Given the description of an element on the screen output the (x, y) to click on. 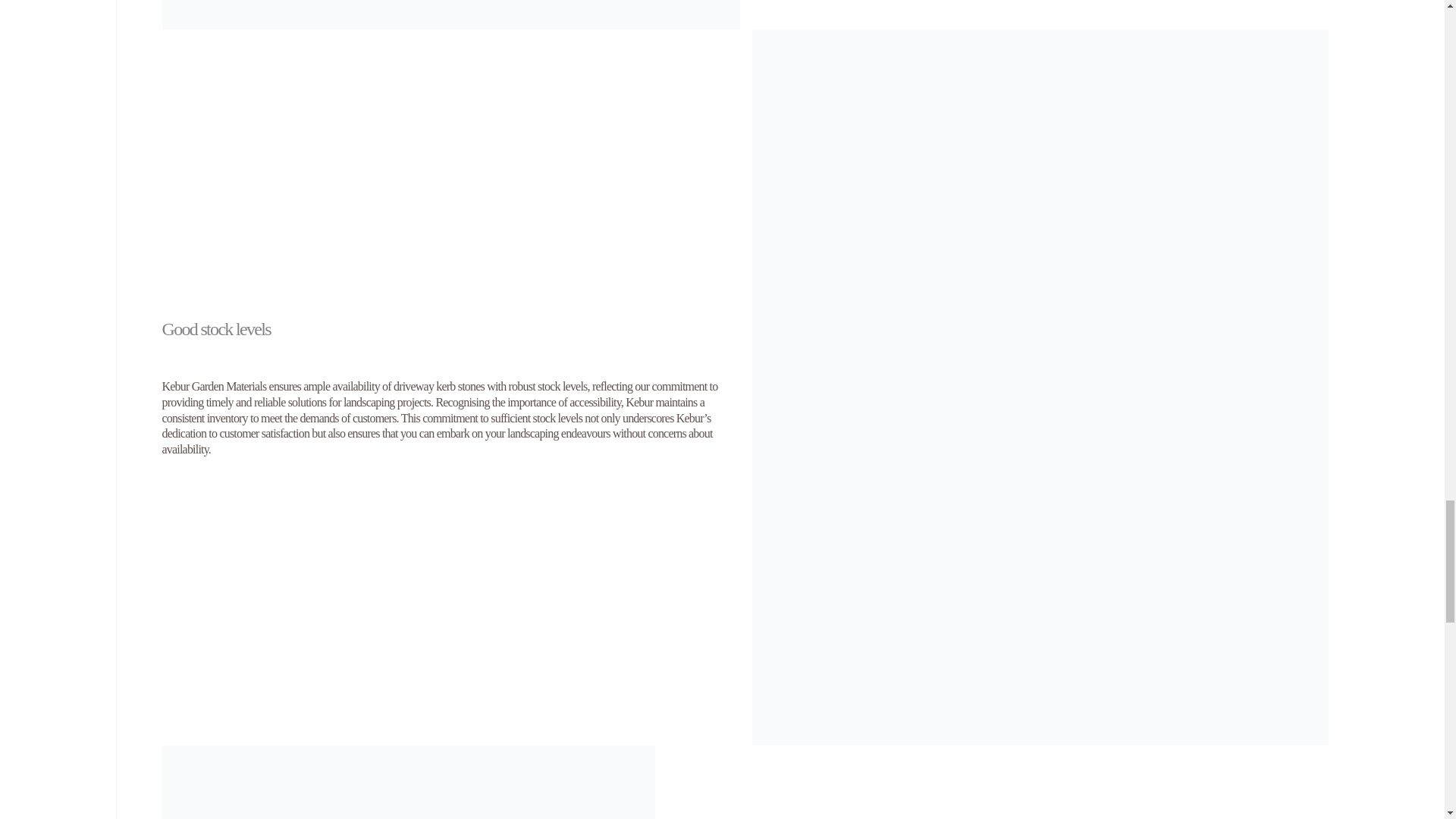
Talking with customer at Kebur (408, 782)
